Given the description of an element on the screen output the (x, y) to click on. 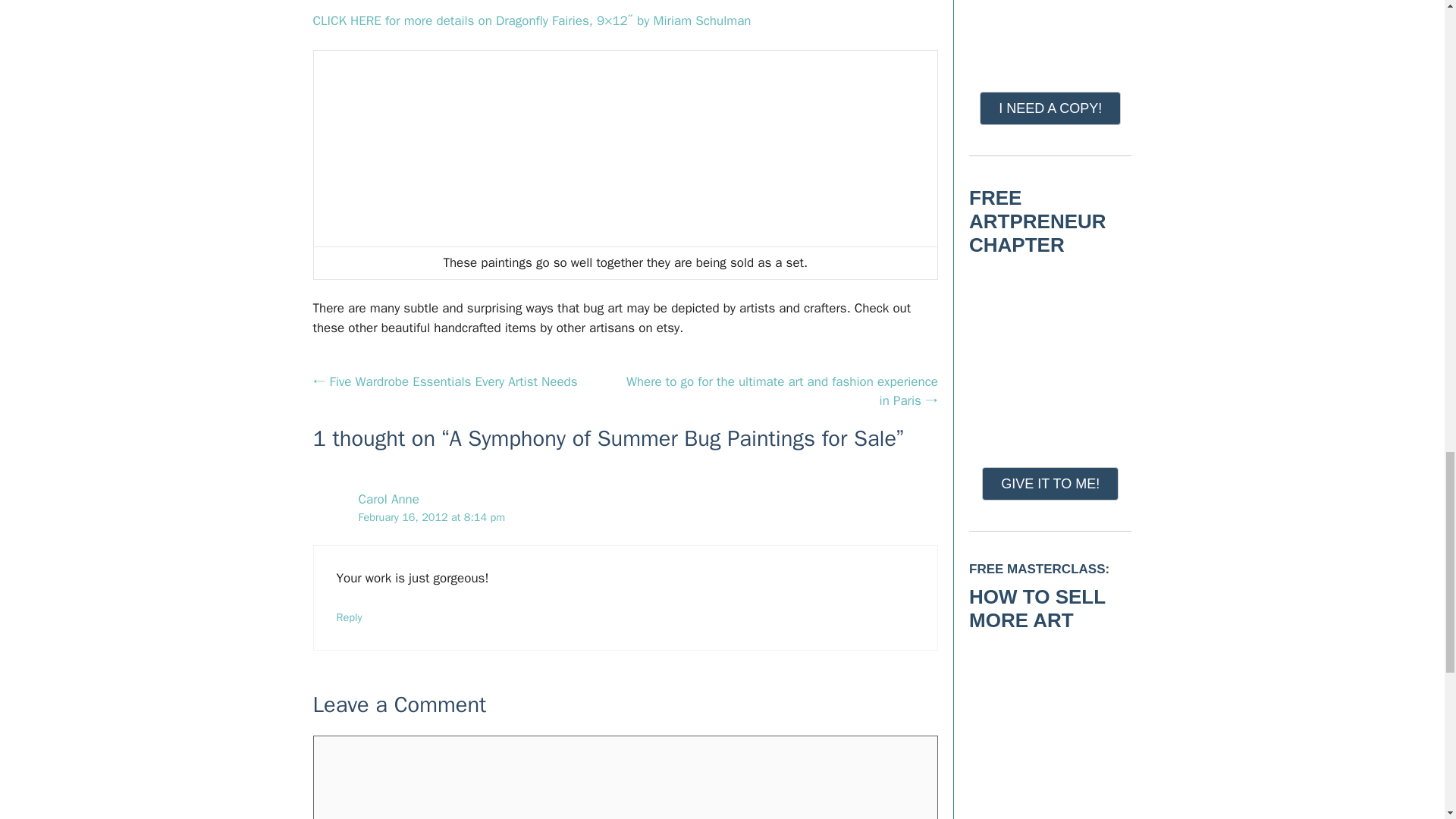
February 16, 2012 at 8:14 pm (431, 517)
Reply (349, 617)
artpreneur book with amazon badge and ratings - for website (1050, 30)
free how to sell more art masterclass - for website homepage (1050, 729)
Carol Anne (388, 498)
free artpreneur chapter - for website sidebar (1050, 354)
